Given the description of an element on the screen output the (x, y) to click on. 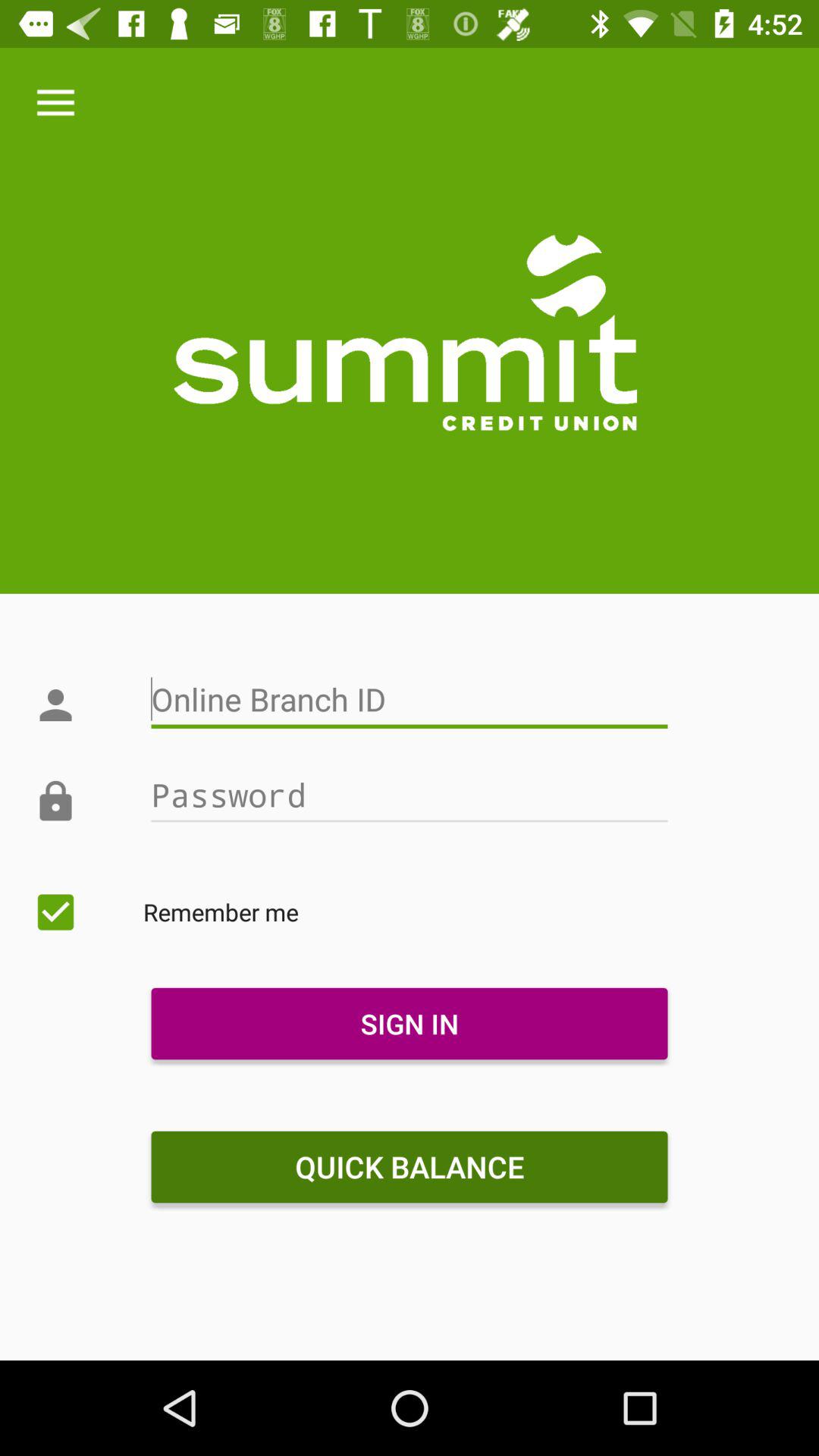
jump until quick balance icon (409, 1166)
